Given the description of an element on the screen output the (x, y) to click on. 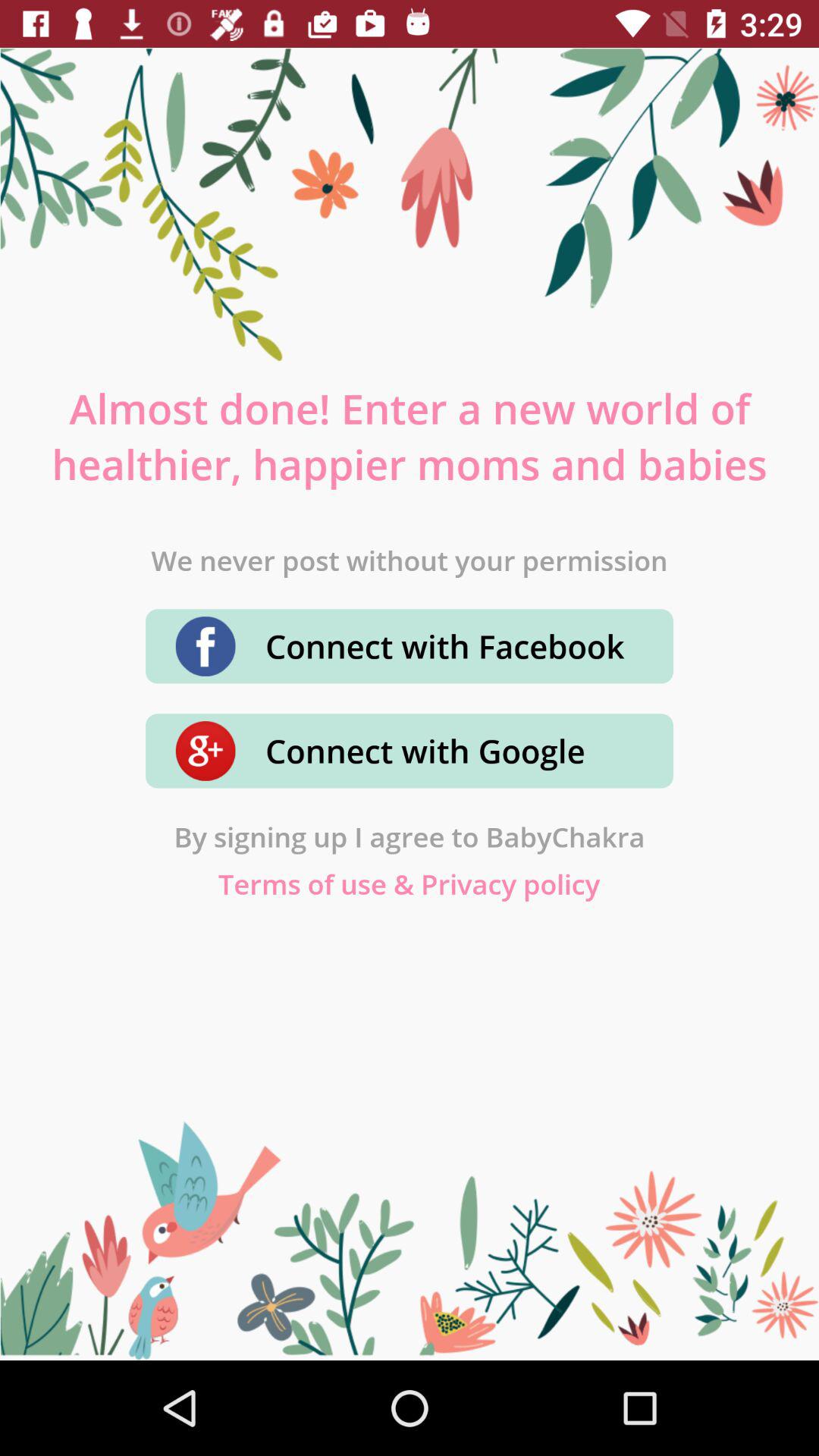
swipe to terms of use icon (409, 883)
